Given the description of an element on the screen output the (x, y) to click on. 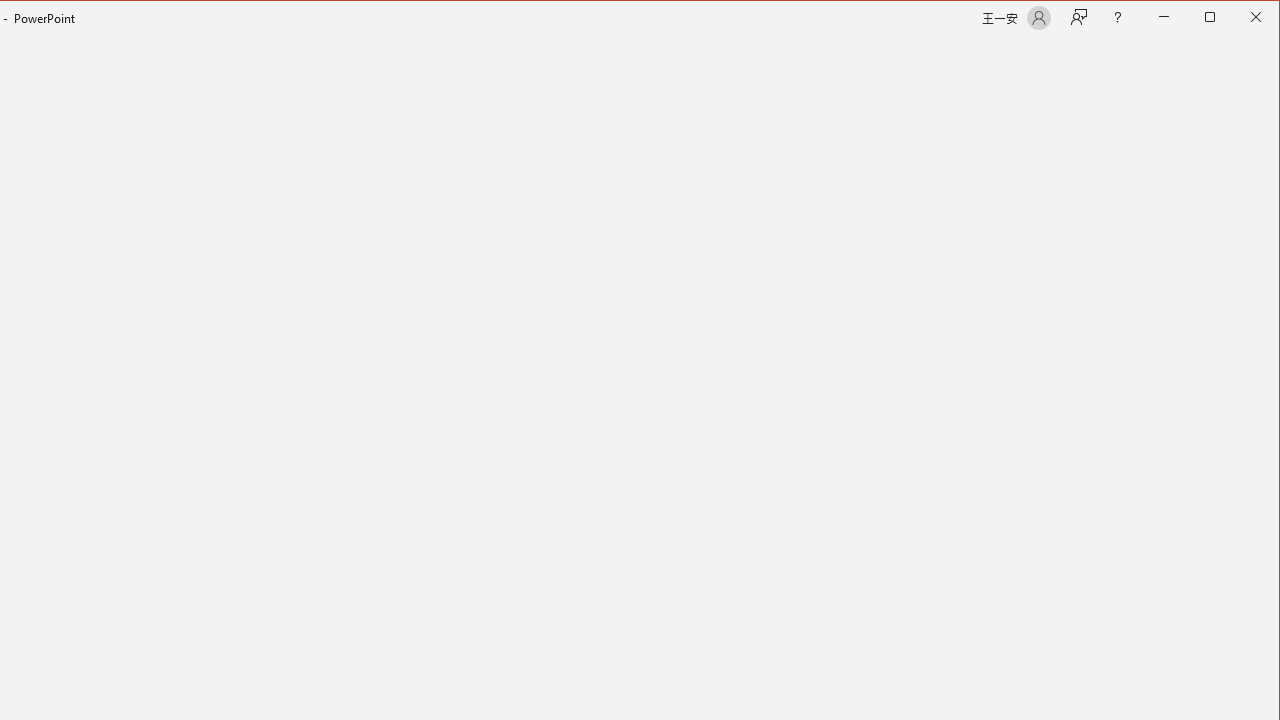
Maximize (1238, 18)
